Given the description of an element on the screen output the (x, y) to click on. 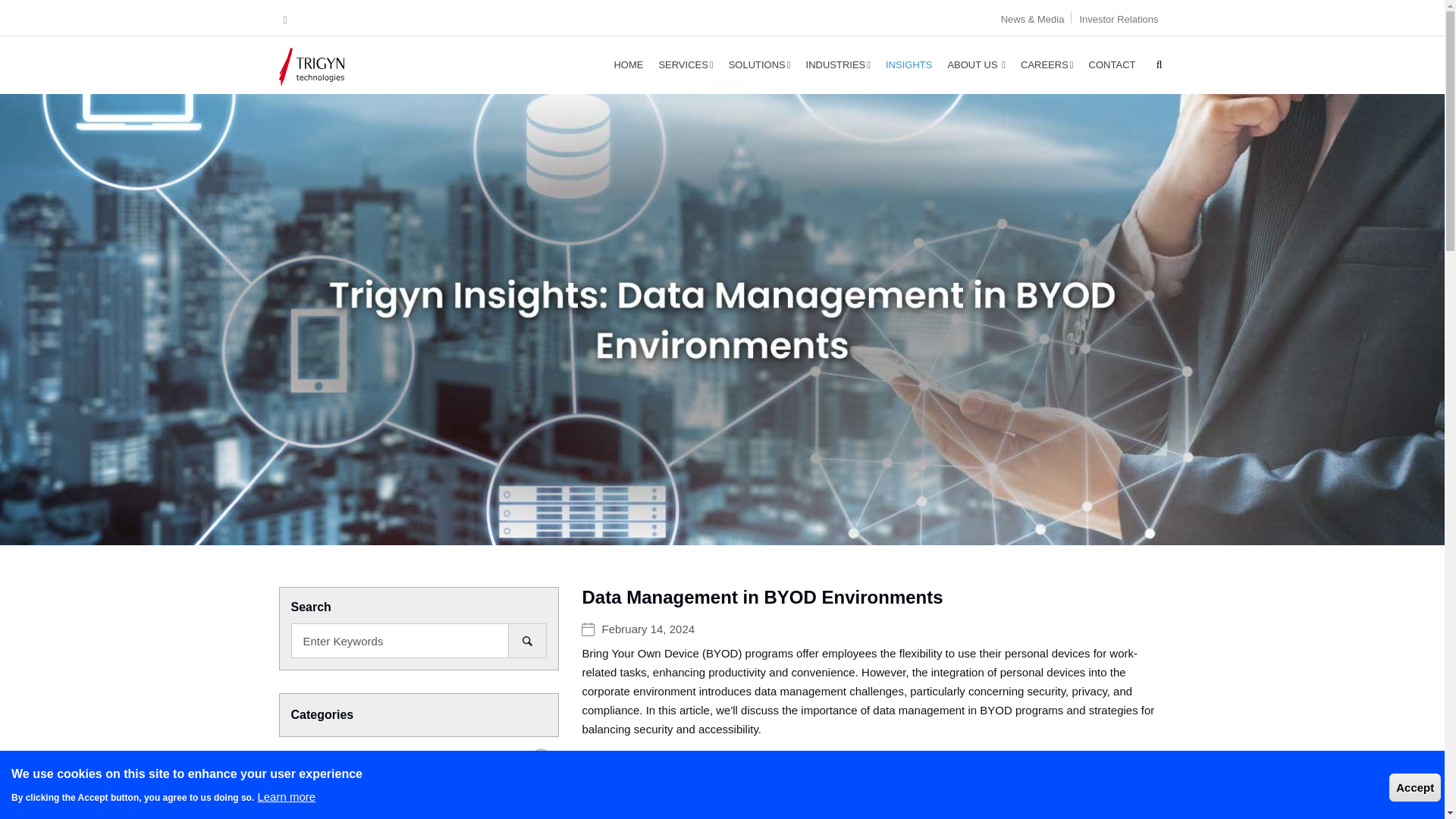
ABOUT US (976, 64)
Home (325, 64)
Search (527, 640)
SERVICES (685, 64)
CAREERS (1047, 64)
INSIGHTS (908, 64)
INDUSTRIES (837, 64)
CONTACT (1111, 64)
Investor Relations (1117, 19)
SOLUTIONS (758, 64)
